Given the description of an element on the screen output the (x, y) to click on. 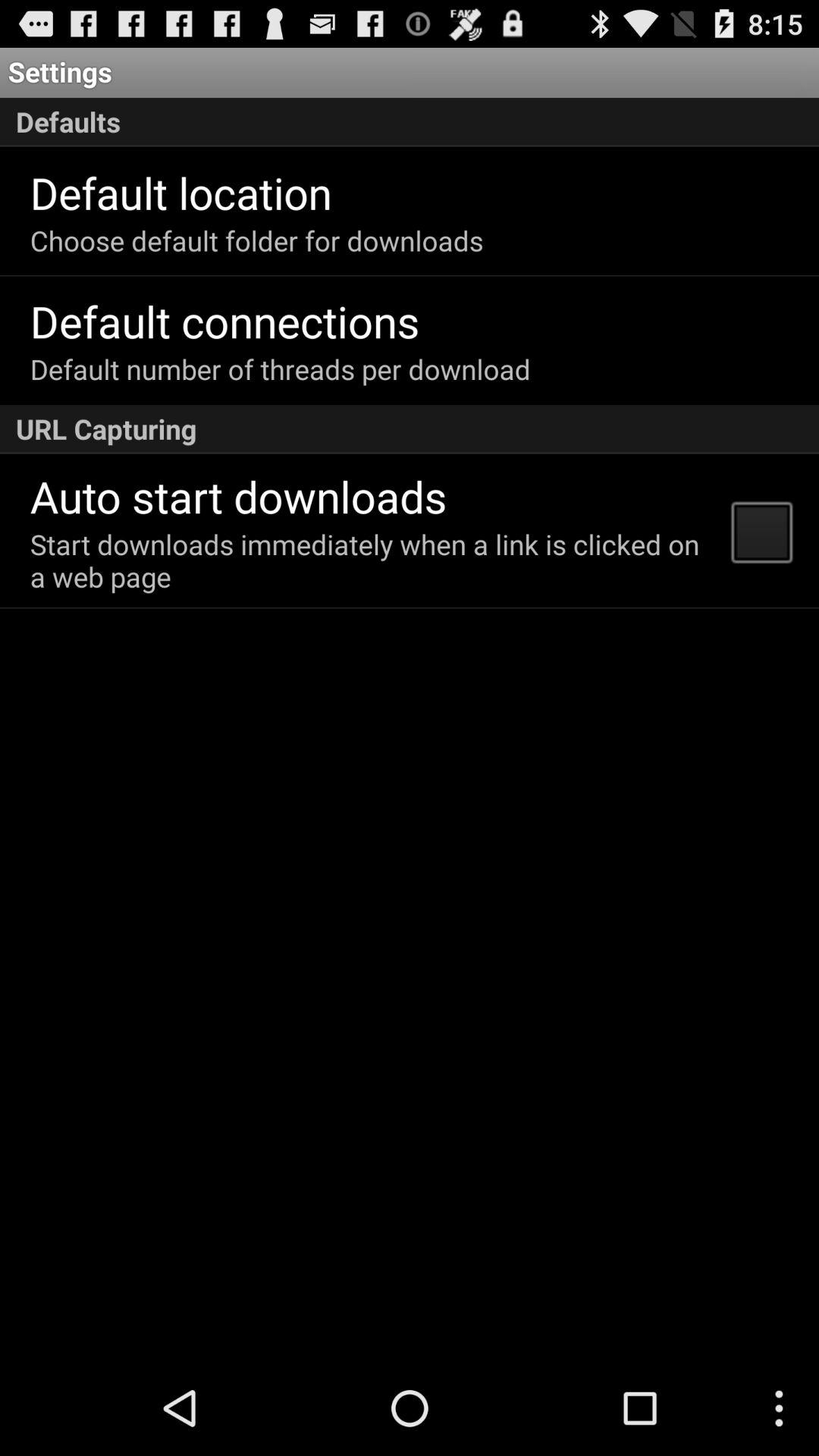
tap the app to the right of the start downloads immediately app (761, 530)
